Given the description of an element on the screen output the (x, y) to click on. 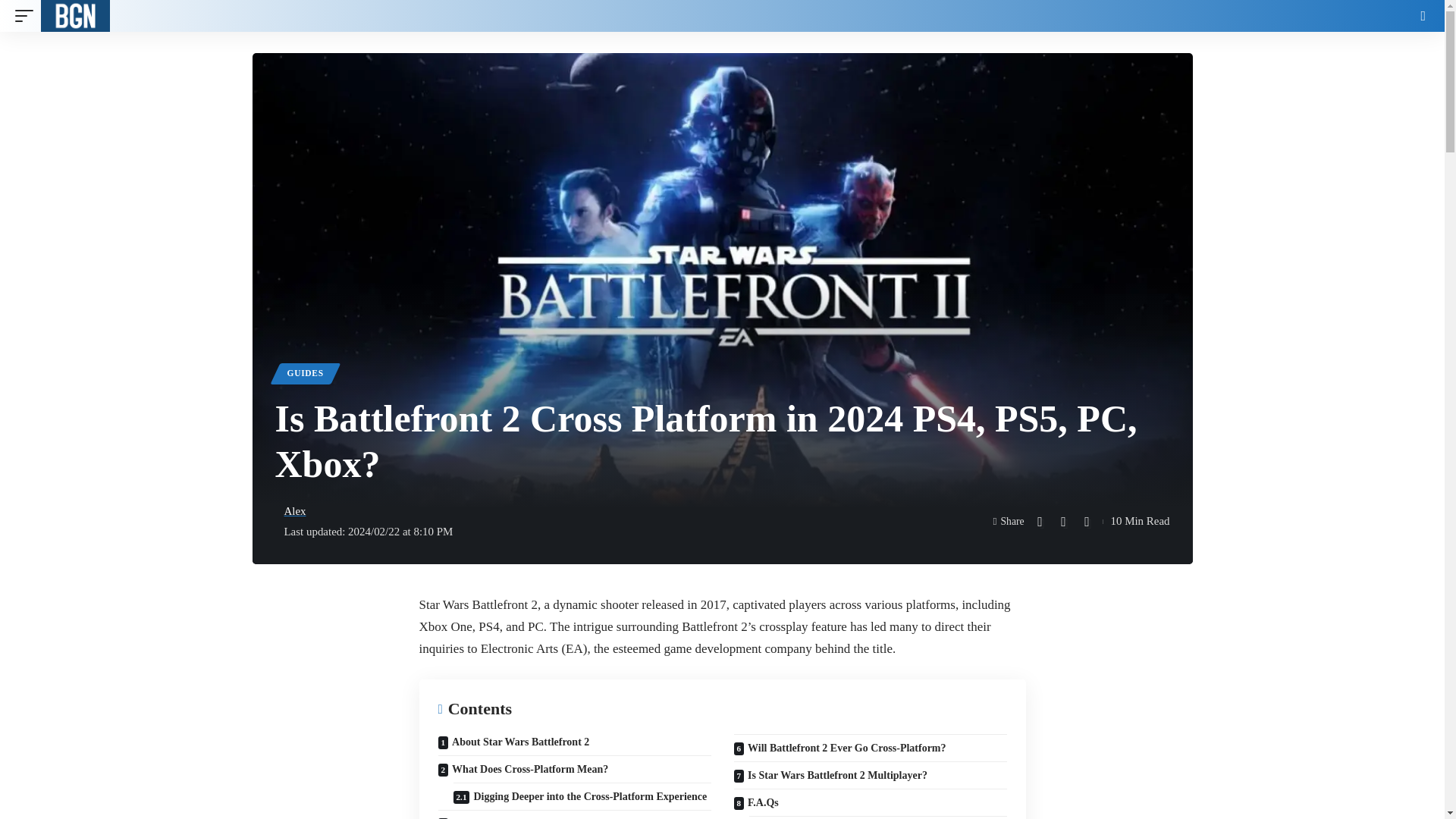
F.A.Qs (870, 801)
Is Battlefront 2 cross-progression? (878, 817)
Is Star Wars Battlefront 2 Multiplayer? (870, 774)
GUIDES (304, 373)
What Does Cross-Platform Mean? (574, 768)
Alex (294, 511)
Will Battlefront 2 Ever Go Cross-Platform? (870, 747)
Is Star Wars Battlefront 2 cross platform in 2023? (574, 814)
About Star Wars Battlefront 2 (574, 744)
Digging Deeper into the Cross-Platform Experience (581, 795)
